Given the description of an element on the screen output the (x, y) to click on. 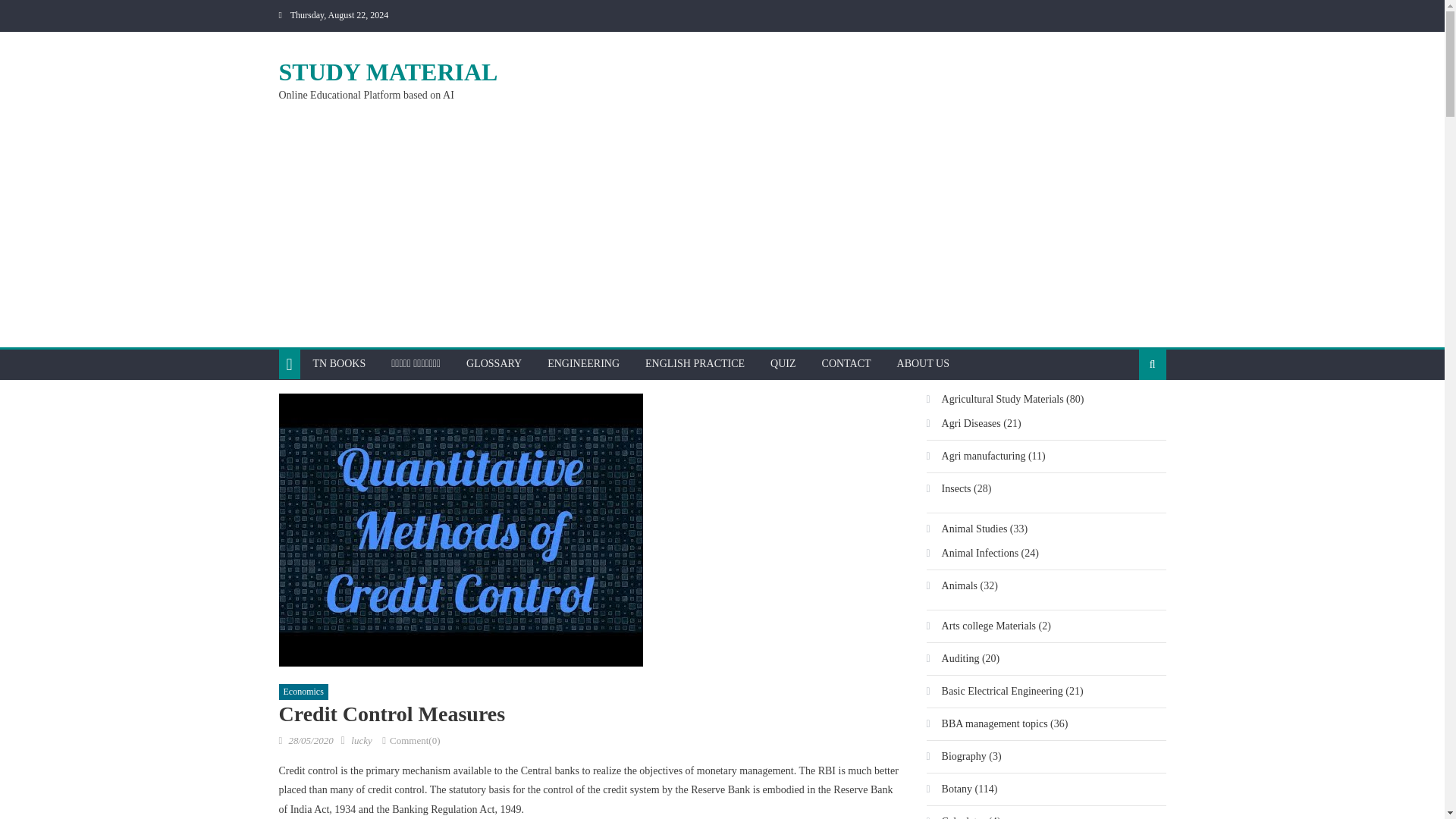
Credit Control Measures 1 (461, 529)
lucky (360, 740)
ENGINEERING (582, 363)
Search (1128, 412)
ABOUT US (922, 363)
GLOSSARY (493, 363)
Economics (304, 692)
Agri manufacturing (976, 456)
CONTACT (846, 363)
